Given the description of an element on the screen output the (x, y) to click on. 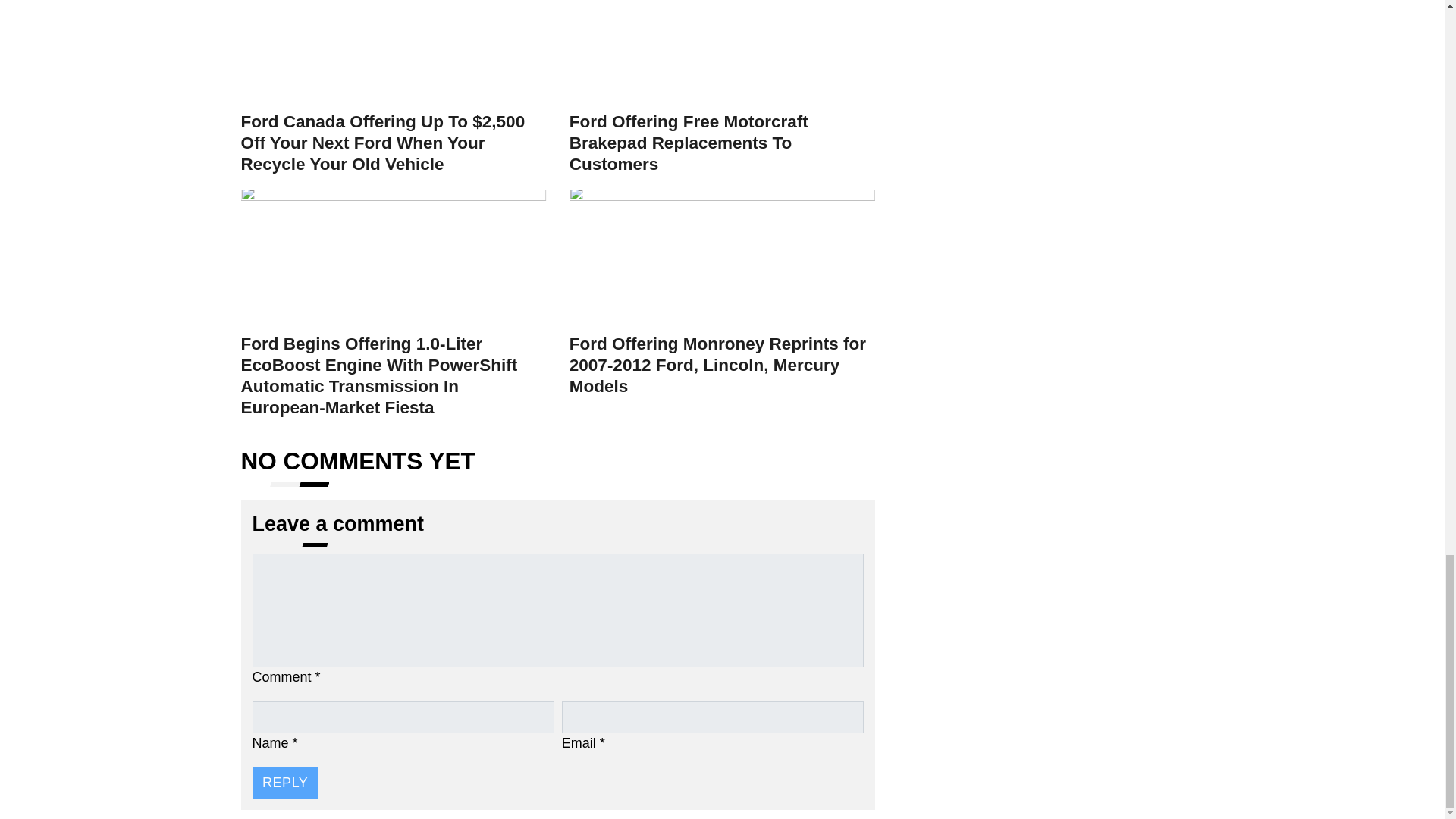
Reply (284, 782)
